Given the description of an element on the screen output the (x, y) to click on. 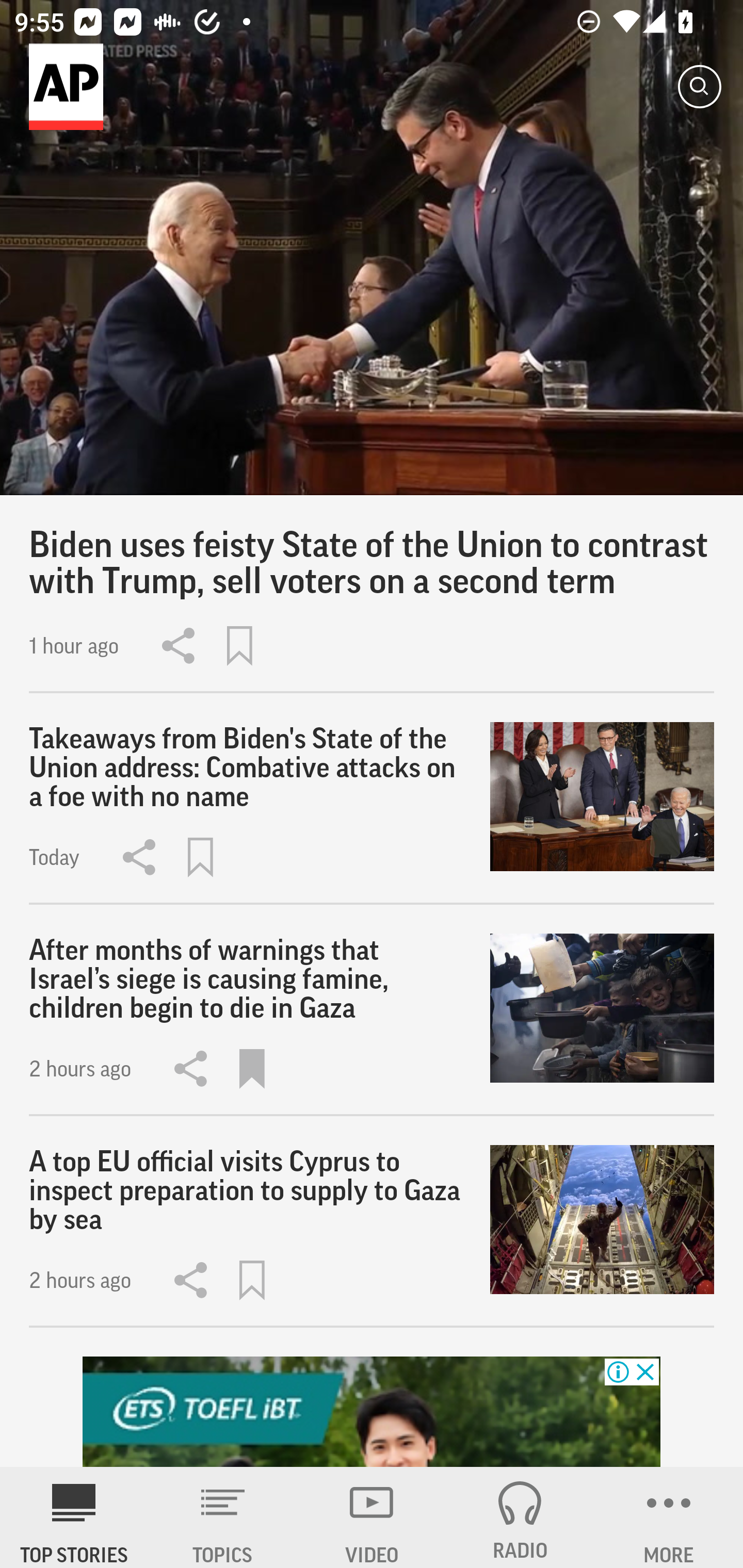
AP News TOP STORIES (74, 1517)
TOPICS (222, 1517)
VIDEO (371, 1517)
RADIO (519, 1517)
MORE (668, 1517)
